Given the description of an element on the screen output the (x, y) to click on. 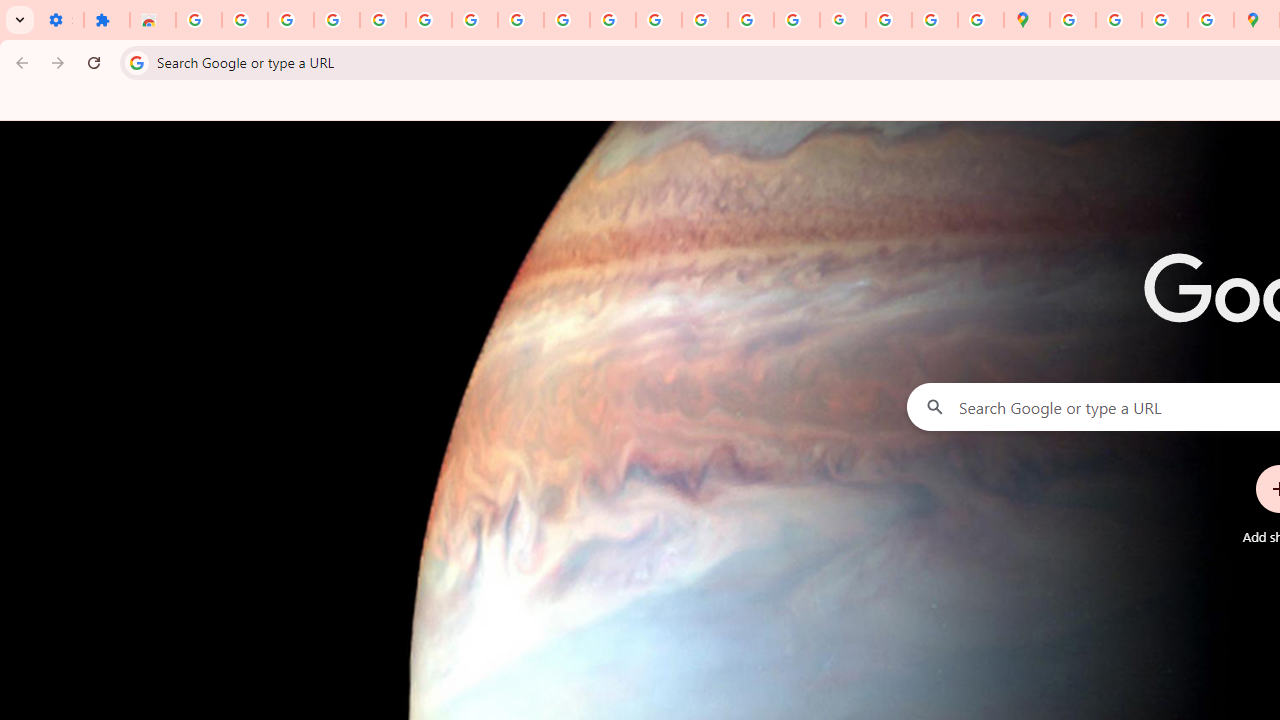
Search icon (136, 62)
